Given the description of an element on the screen output the (x, y) to click on. 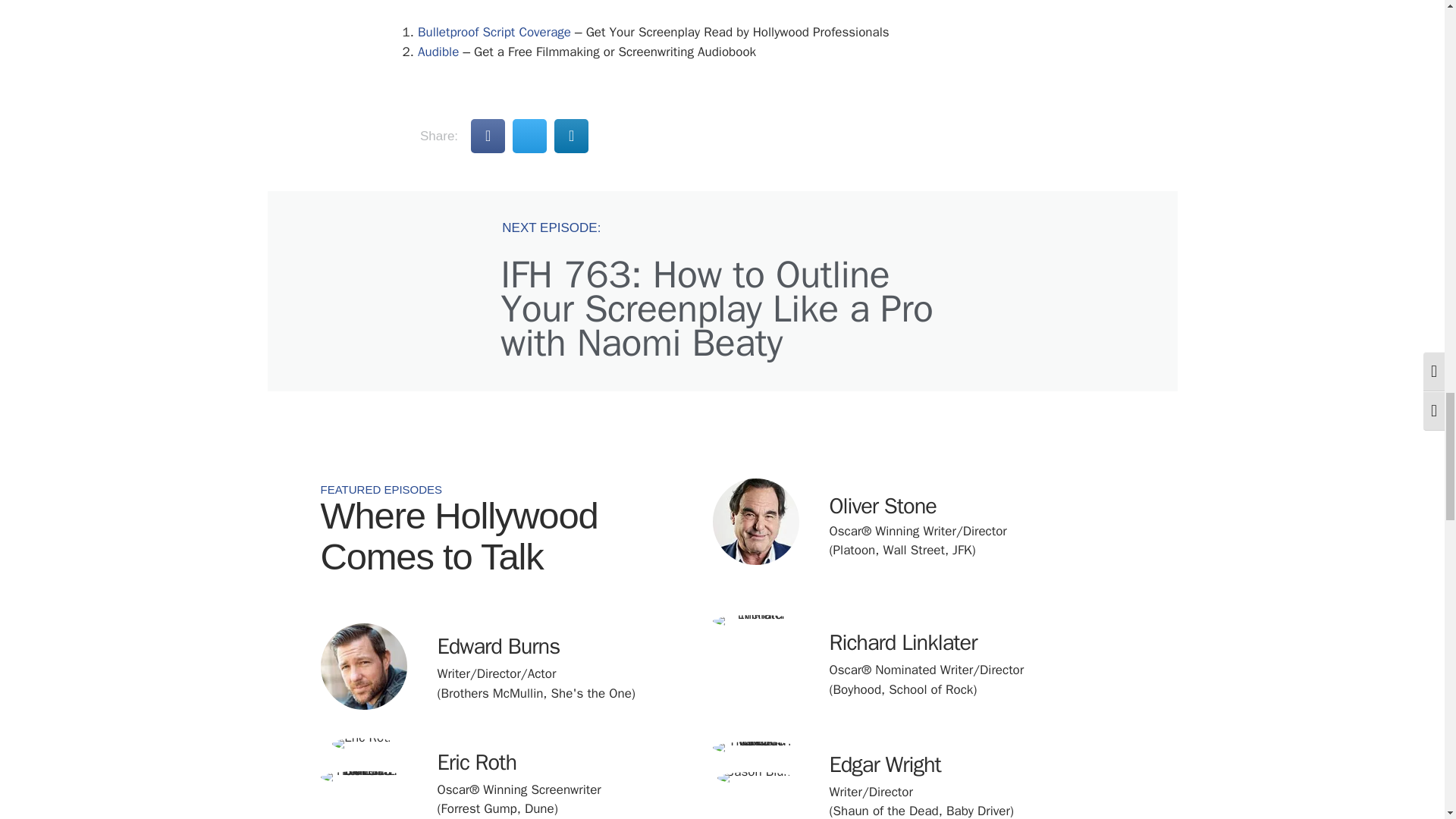
Jason Blum (755, 777)
Eric Roth (476, 762)
Oliver Stone (756, 521)
Richard Linklater (902, 642)
Edward Burns (497, 646)
Eric Roth (362, 743)
Oliver Stone (882, 506)
HIGHLIGHT GUESTS SML - EDGAR WRIGHT (756, 747)
HIGHLIGHT-GUESTS-SML-THE DANIELS-circle (363, 776)
Richard Linklater (756, 621)
